Given the description of an element on the screen output the (x, y) to click on. 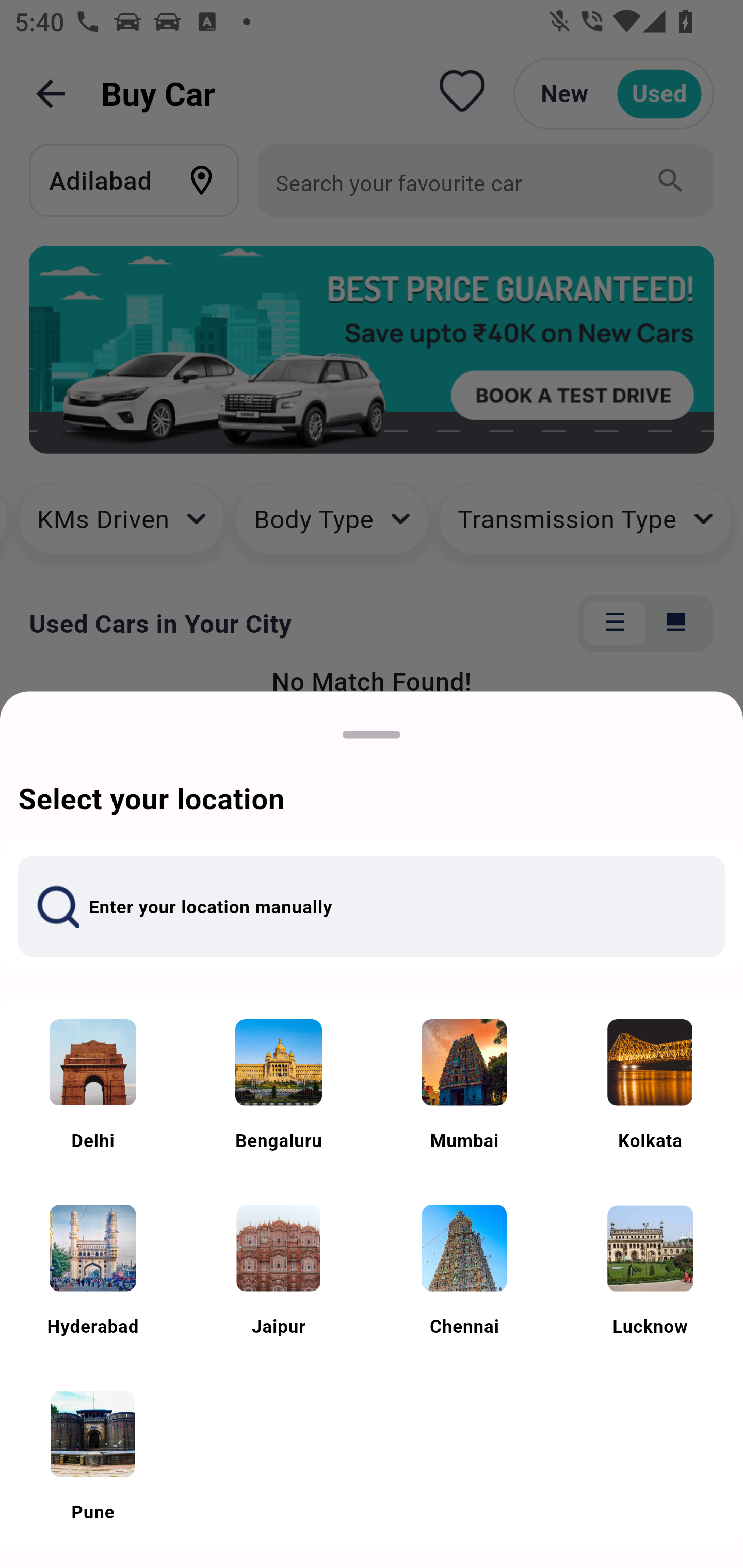
Dismiss (371, 734)
Enter your location manually (371, 906)
Delhi (92, 1085)
Bengaluru (278, 1085)
Mumbai (464, 1085)
Kolkata (650, 1085)
Hyderabad (92, 1271)
Jaipur (278, 1271)
Chennai (464, 1271)
Lucknow (650, 1271)
Pune (92, 1456)
